Given the description of an element on the screen output the (x, y) to click on. 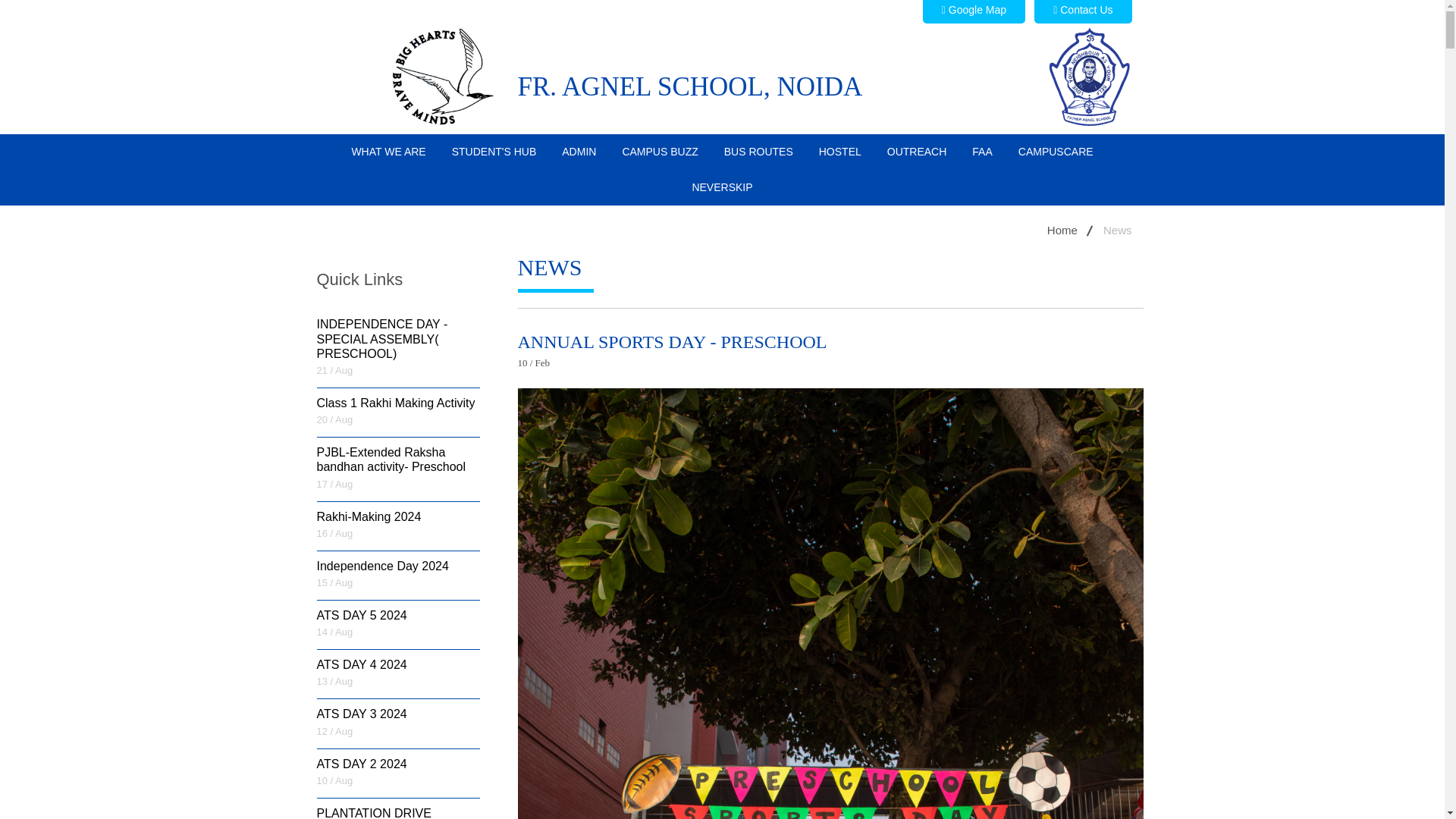
Google Map (974, 11)
Contact Us (1082, 11)
WHAT WE ARE (387, 151)
STUDENT'S HUB (494, 151)
